Given the description of an element on the screen output the (x, y) to click on. 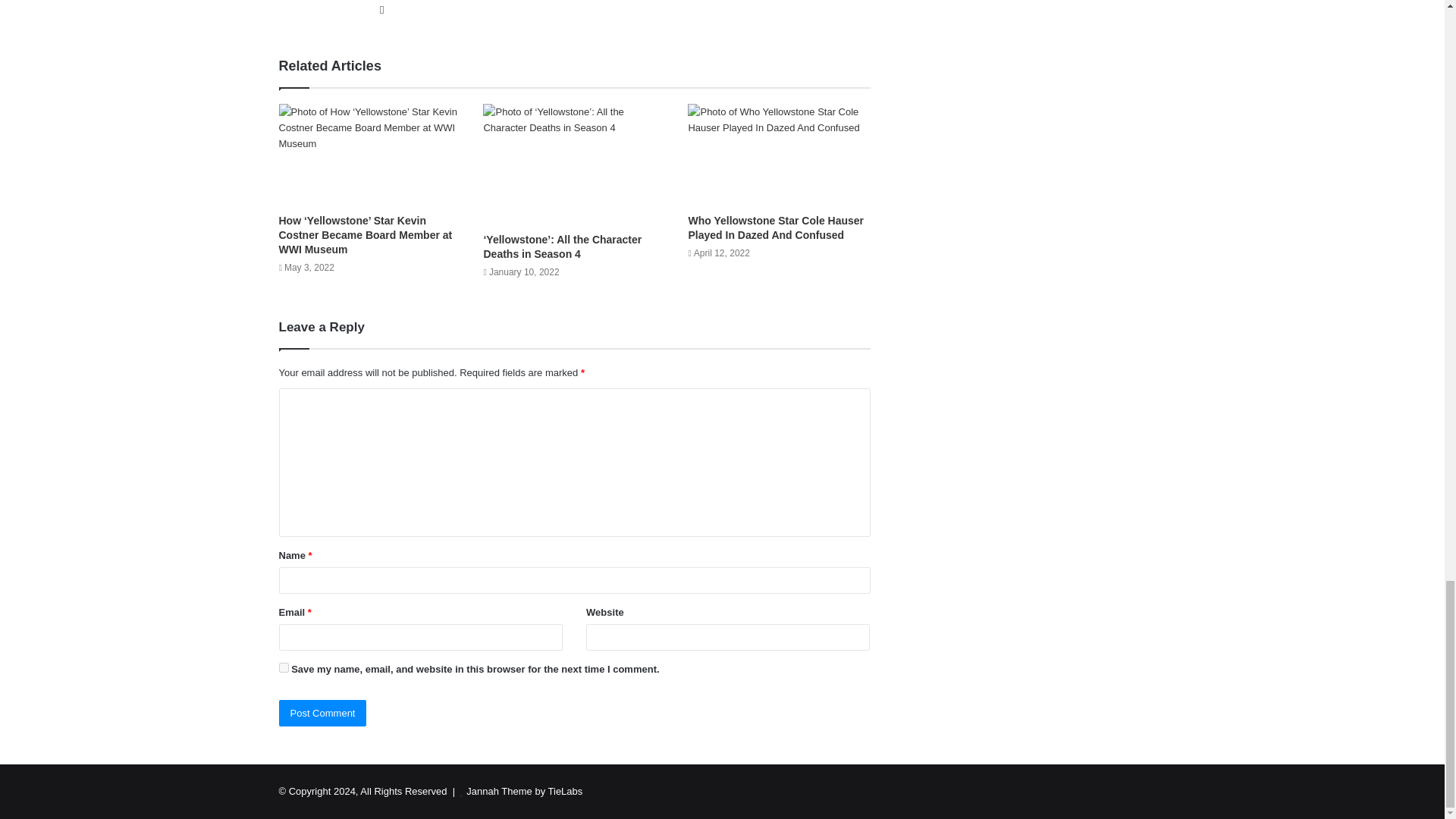
yes (283, 667)
Post Comment (322, 713)
Website (381, 9)
